Given the description of an element on the screen output the (x, y) to click on. 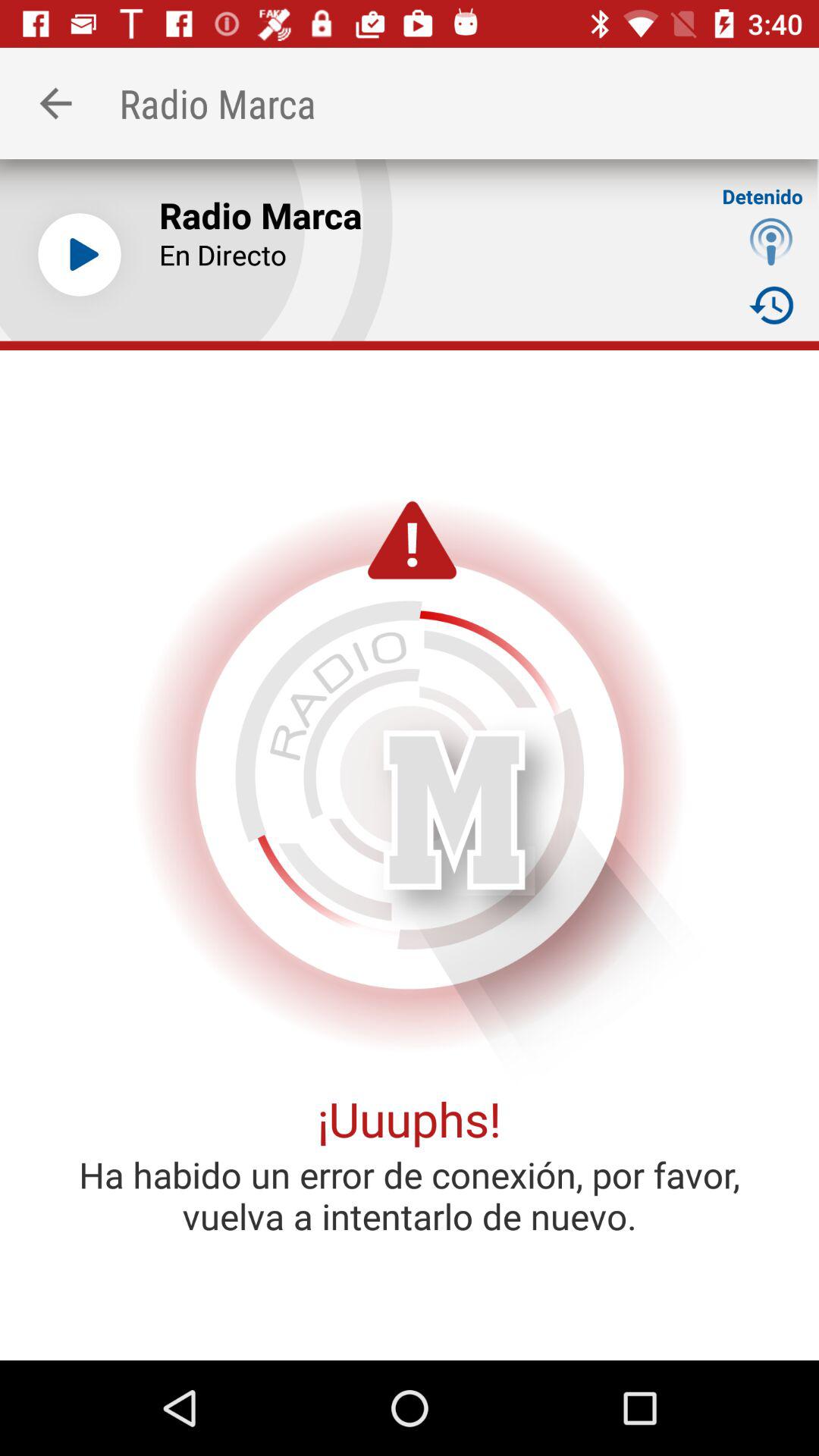
select icon to the right of en directo item (771, 241)
